Given the description of an element on the screen output the (x, y) to click on. 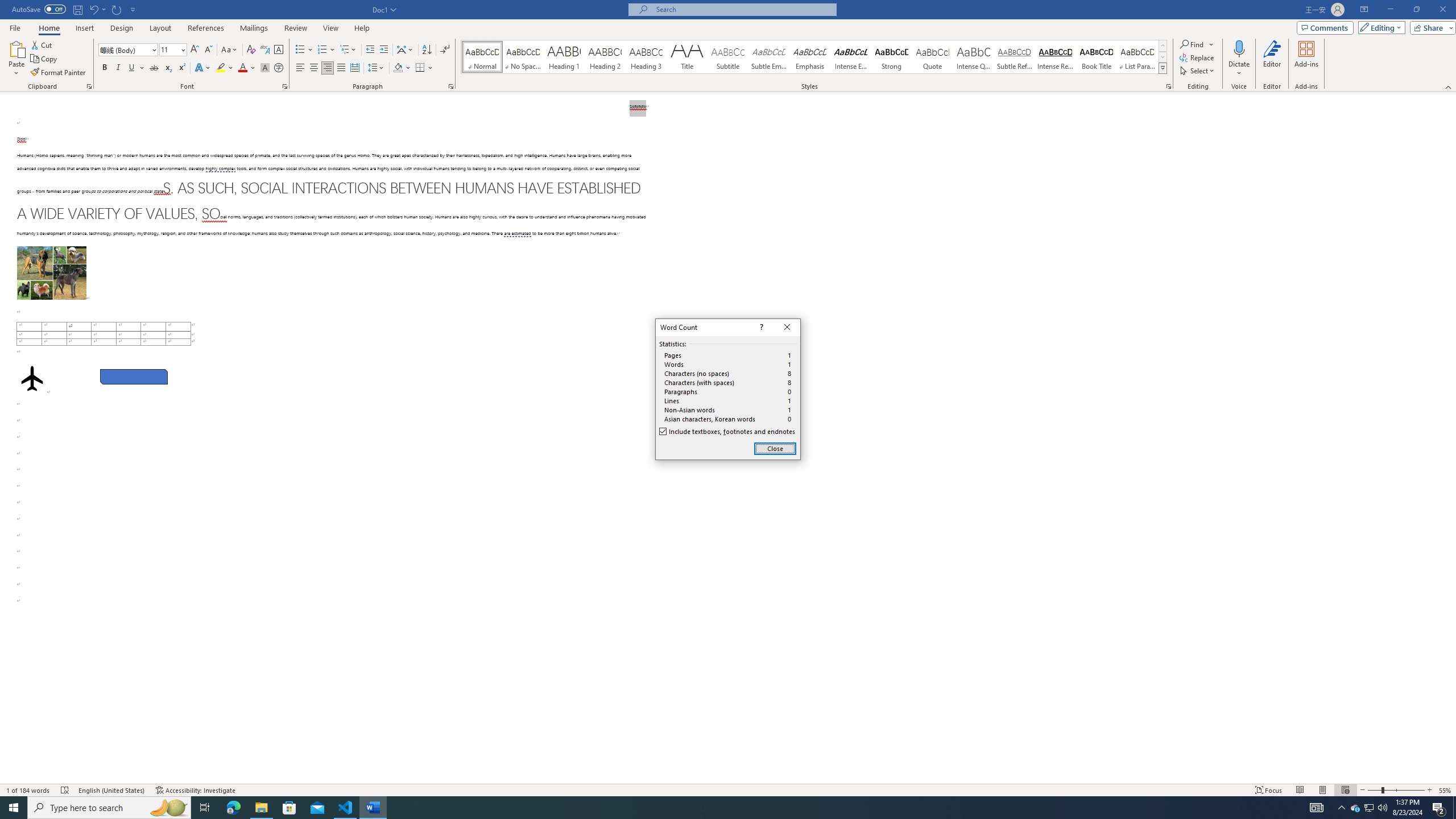
Include textboxes, footnotes and endnotes (727, 431)
